Given the description of an element on the screen output the (x, y) to click on. 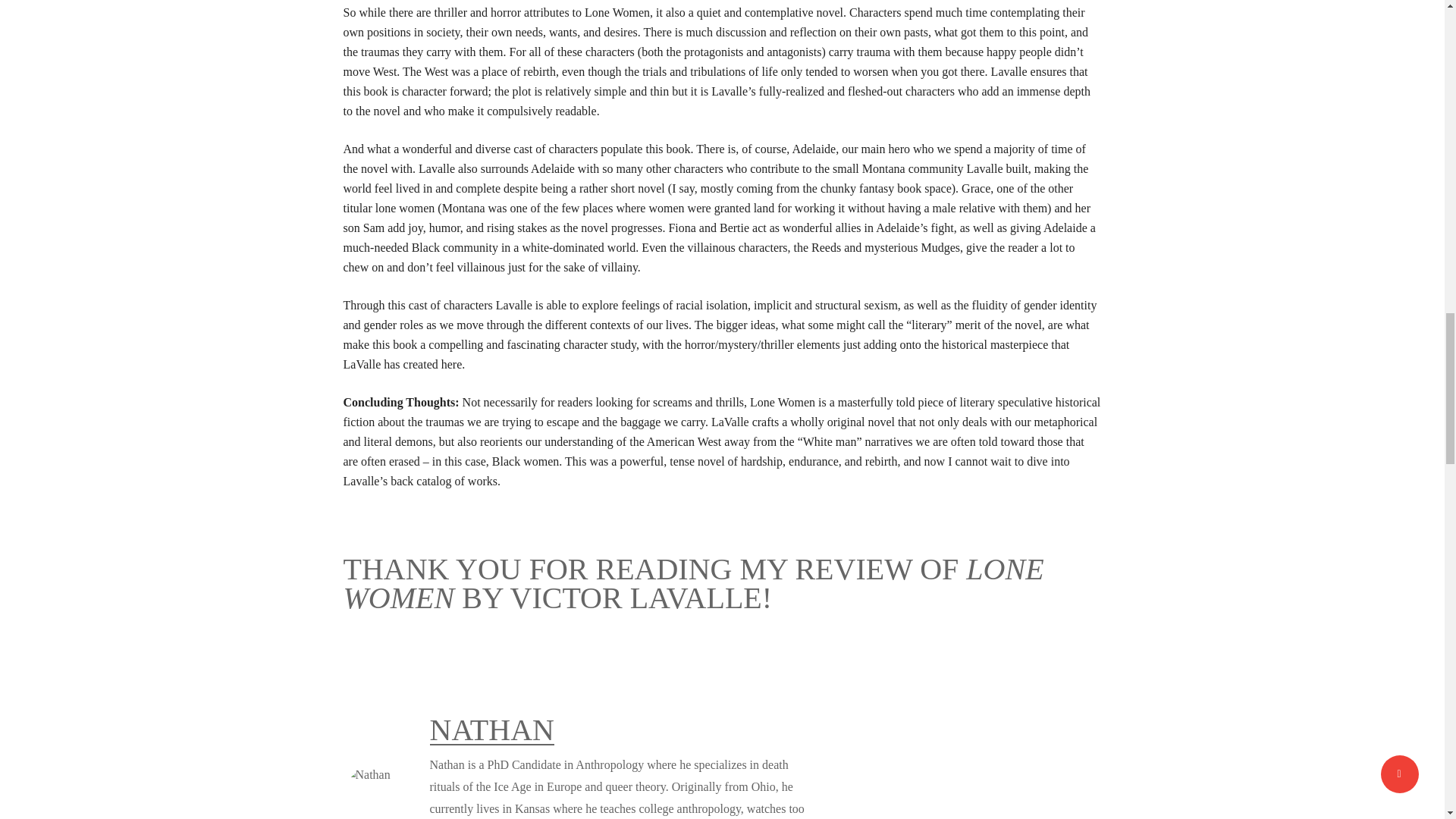
NATHAN (491, 729)
